Given the description of an element on the screen output the (x, y) to click on. 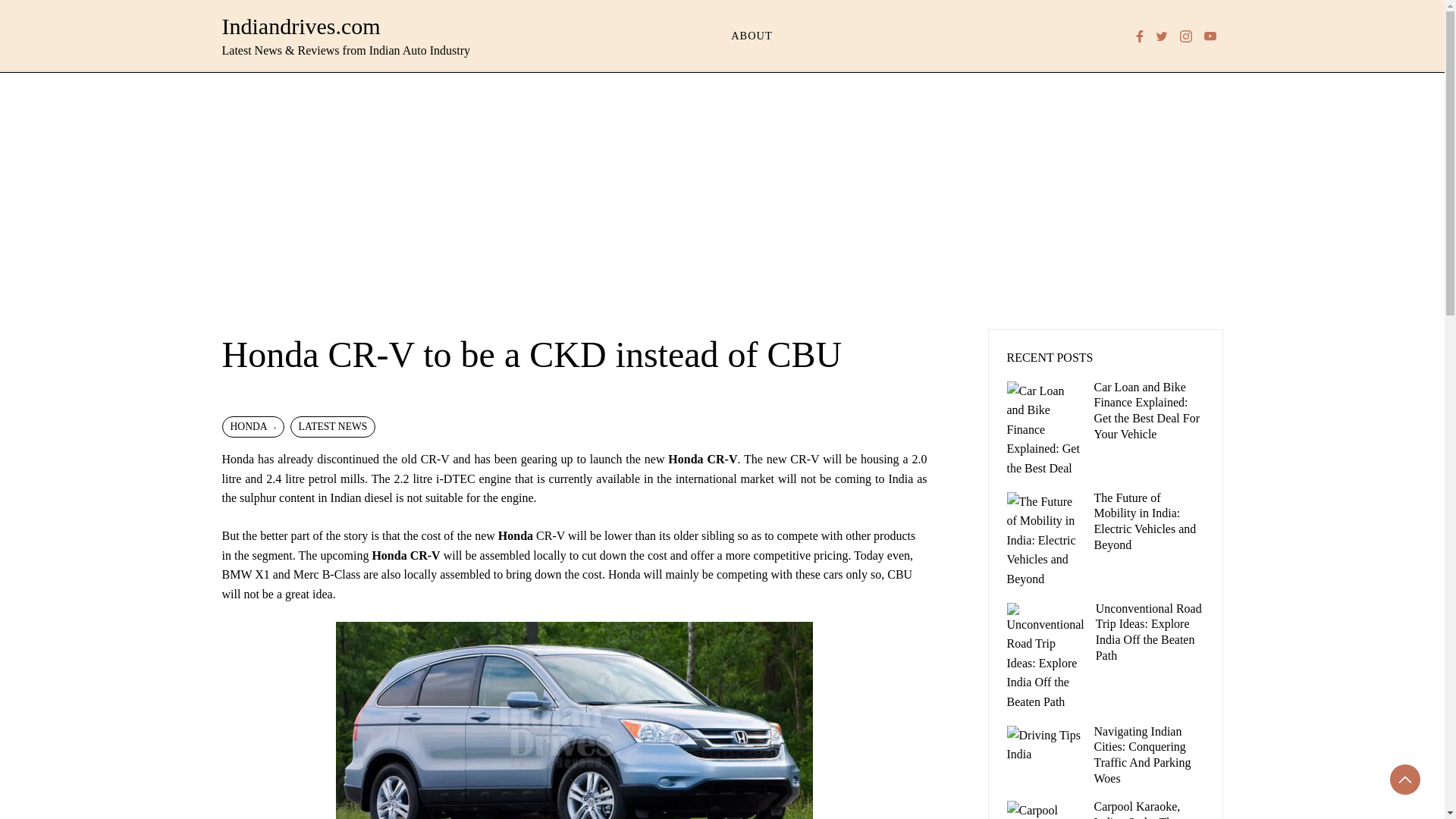
LATEST NEWS (332, 426)
ABOUT (751, 35)
HONDA (252, 426)
Honda CR-V to be a CKD instead of CBU (574, 720)
Honda Cars in India (514, 535)
Honda (514, 535)
